Given the description of an element on the screen output the (x, y) to click on. 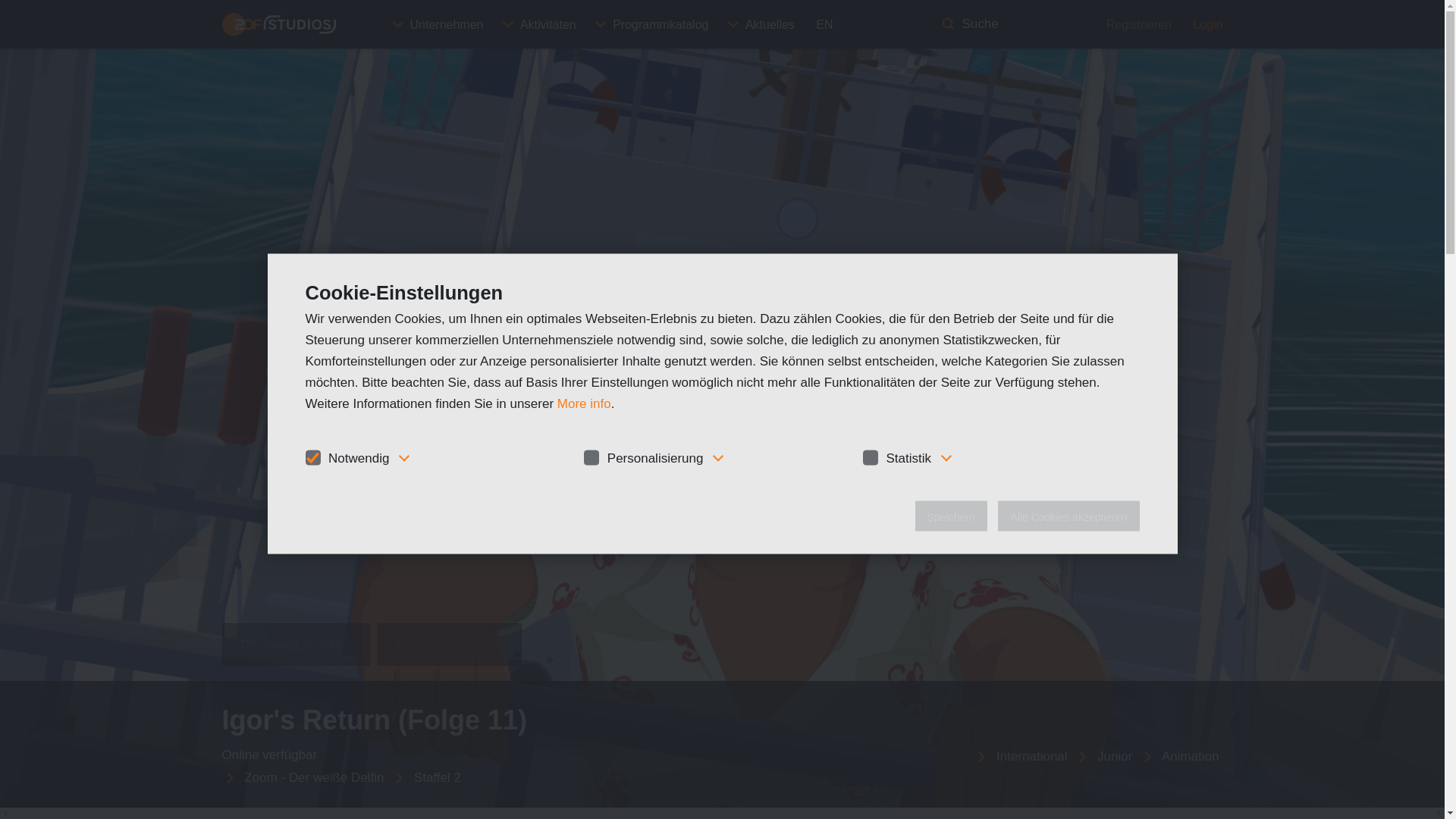
mandatory (312, 458)
advertising (590, 458)
Unternehmen (438, 24)
tracking (870, 458)
